Given the description of an element on the screen output the (x, y) to click on. 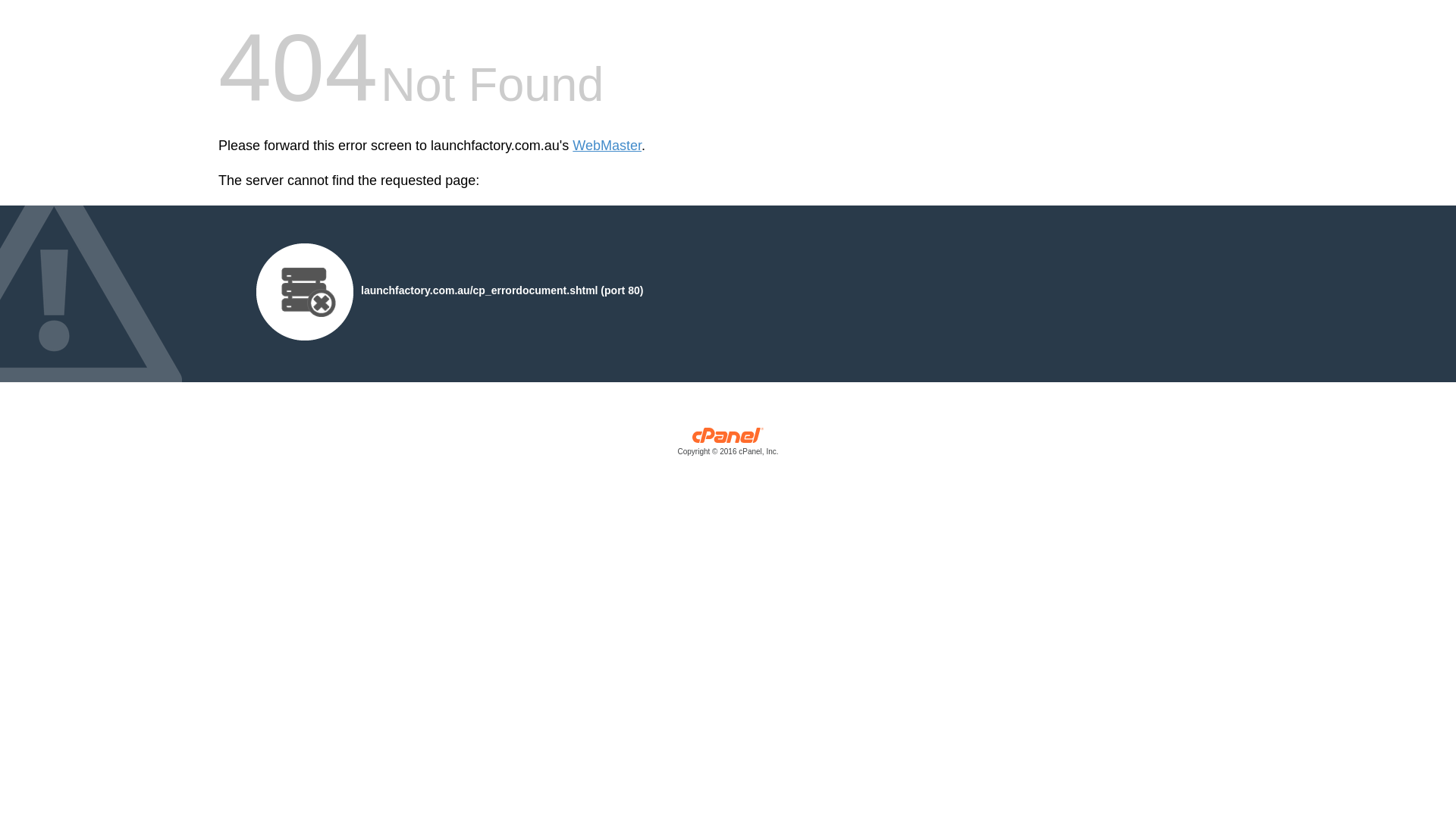
WebMaster Element type: text (606, 145)
